Given the description of an element on the screen output the (x, y) to click on. 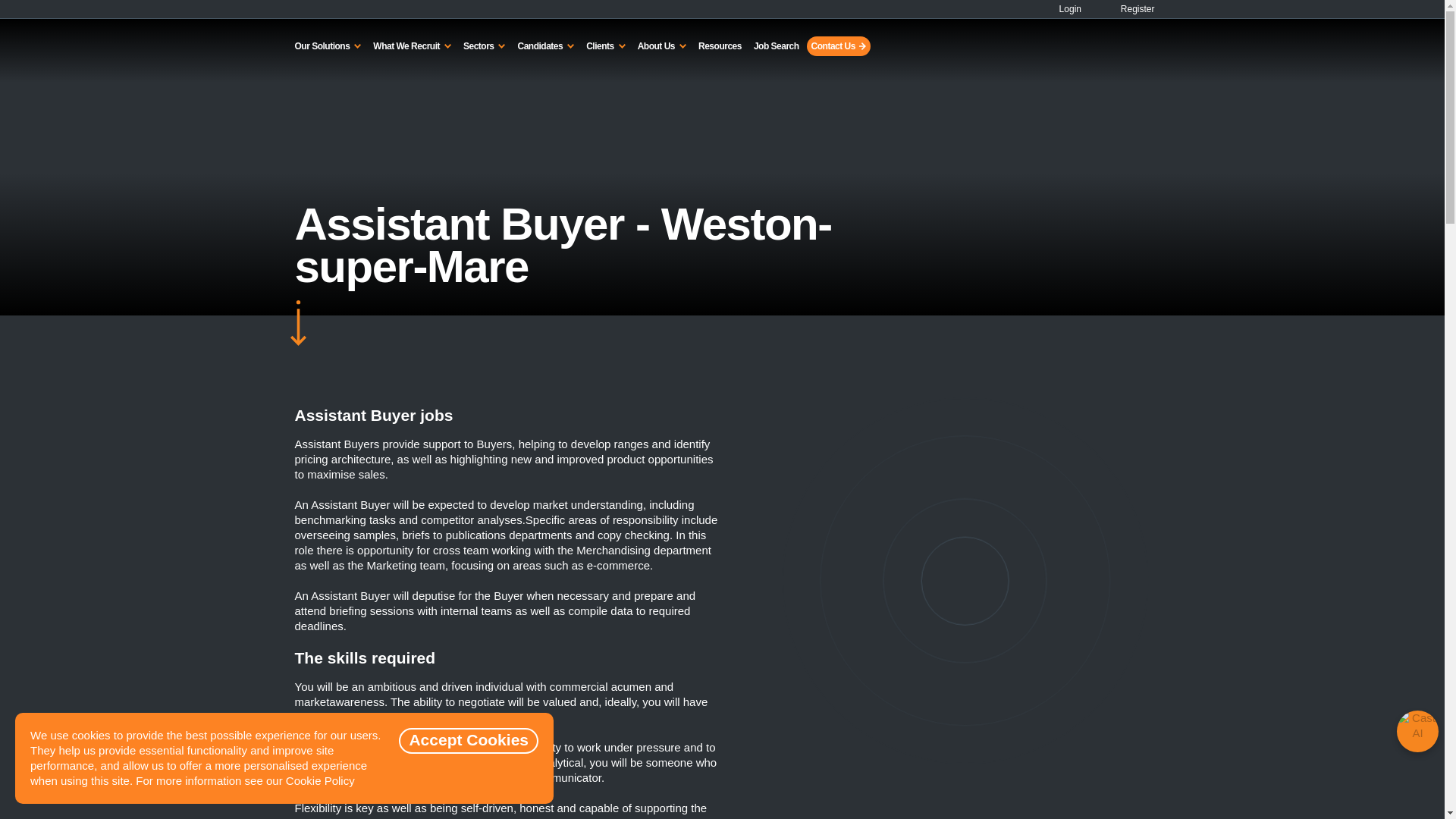
Sectors (484, 46)
Register (1128, 9)
What We Recruit (411, 46)
Login (1063, 9)
Our Solutions (327, 46)
